Given the description of an element on the screen output the (x, y) to click on. 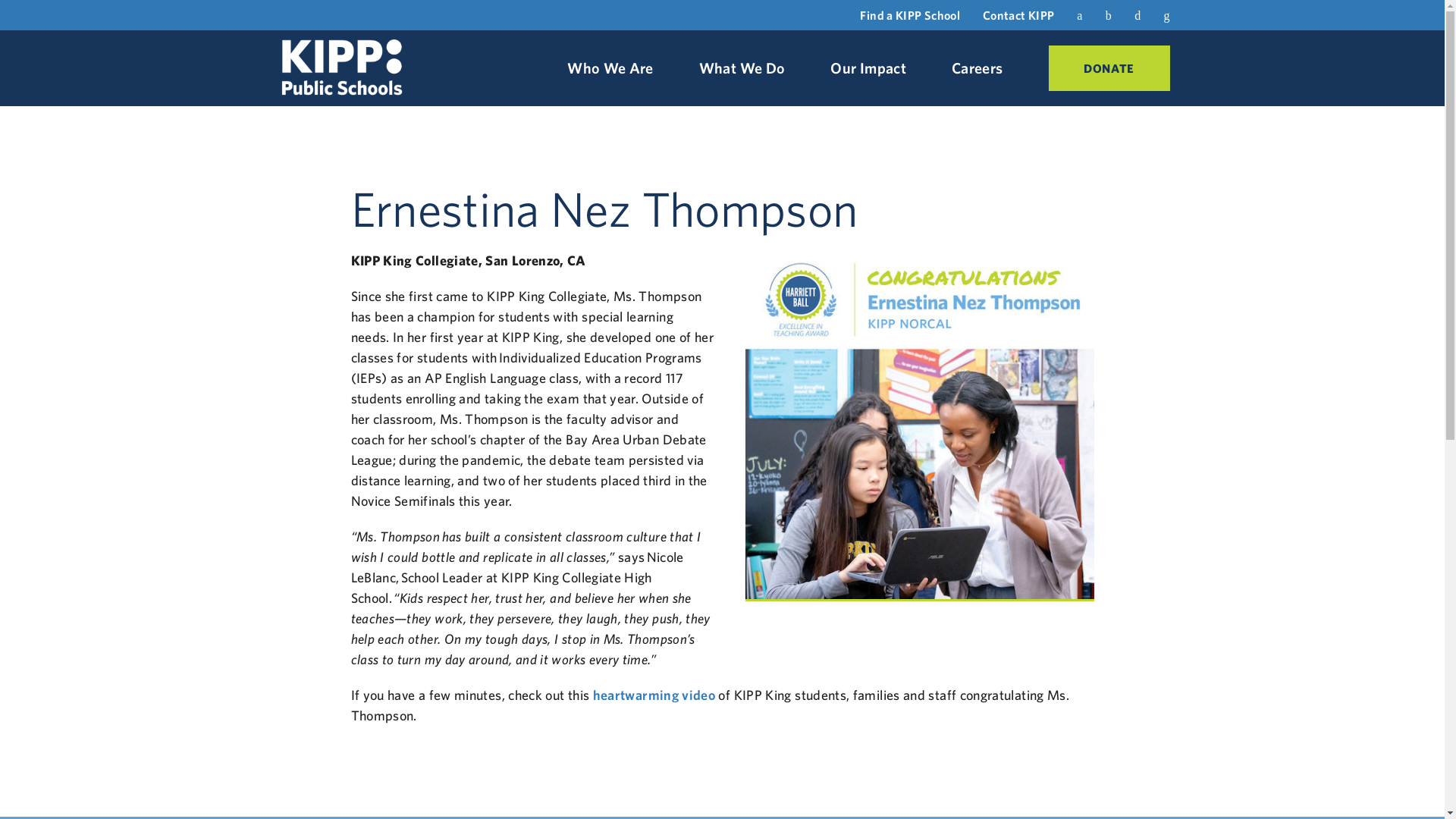
Instagram (1136, 14)
Contact KIPP (1018, 15)
What We Do (742, 68)
Who We Are (610, 68)
Our Impact (868, 68)
Careers (977, 68)
Twitter (1108, 14)
Search (1166, 14)
DONATE (1108, 67)
Find a KIPP School (909, 15)
